Given the description of an element on the screen output the (x, y) to click on. 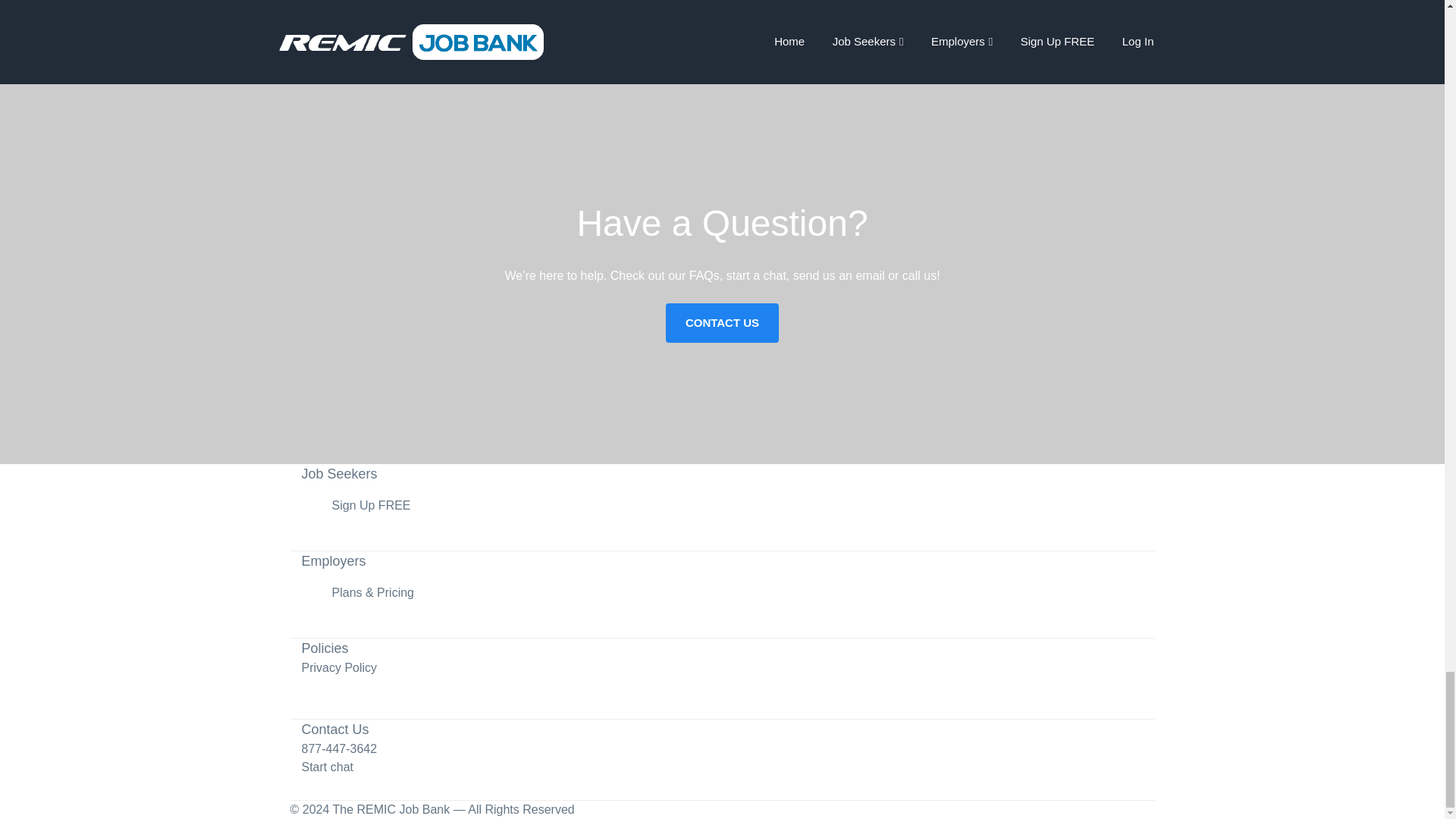
SIGN UP NOW (376, 7)
Start chat (327, 766)
Privacy Policy (339, 667)
CONTACT US (721, 323)
Sign Up FREE (370, 504)
